Given the description of an element on the screen output the (x, y) to click on. 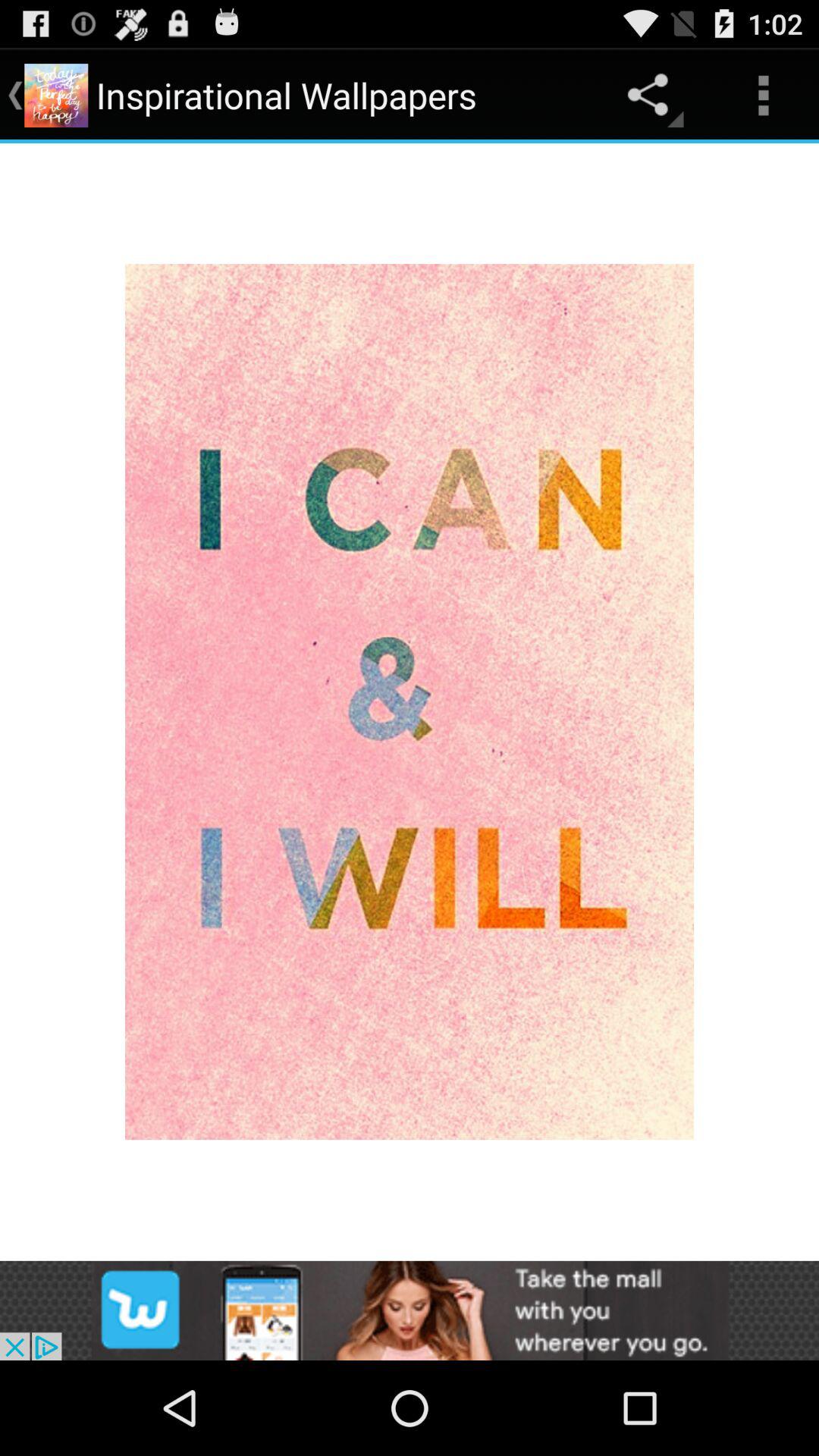
go to add (409, 1310)
